Given the description of an element on the screen output the (x, y) to click on. 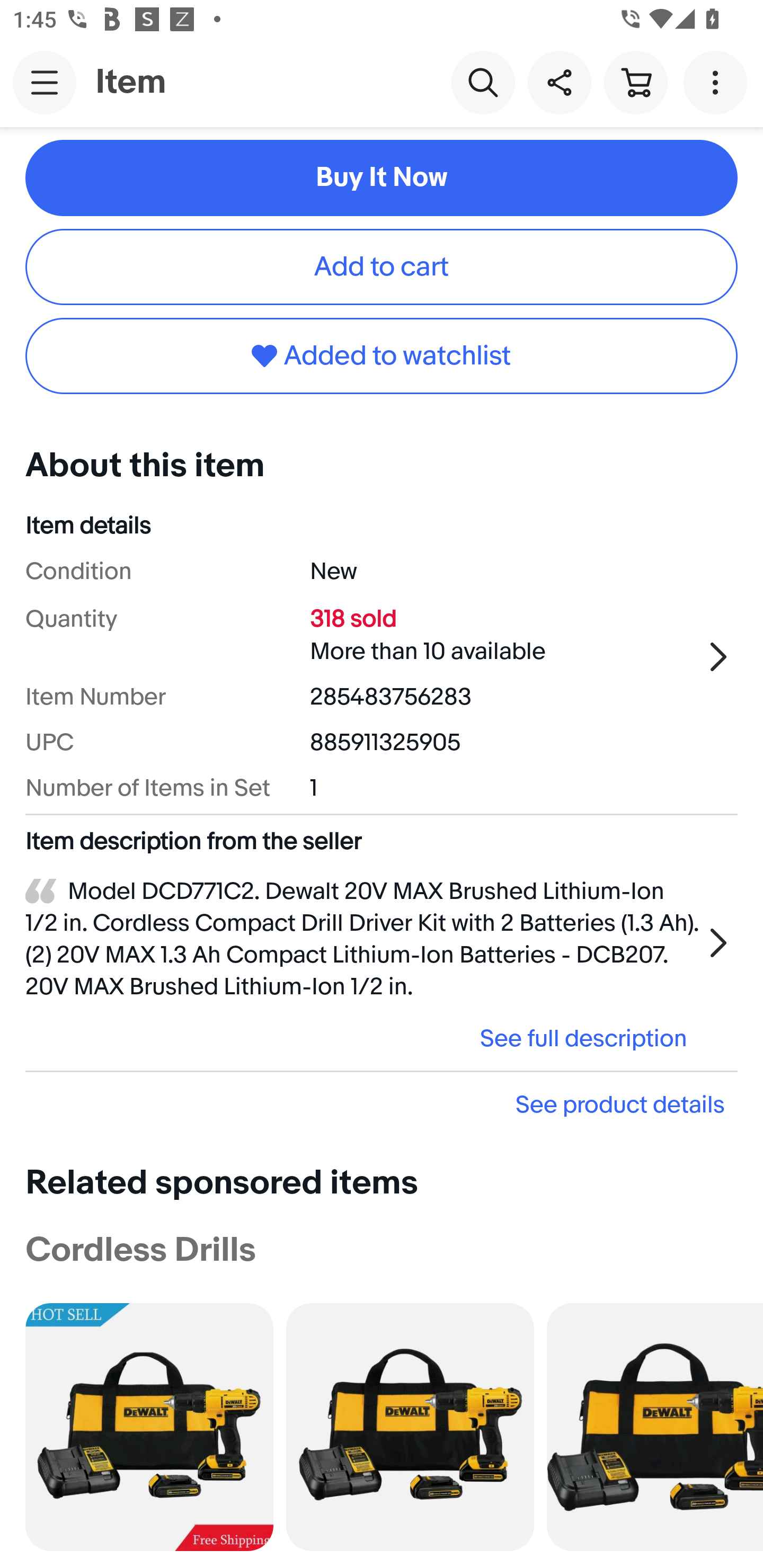
Main navigation, open (44, 82)
Search (482, 81)
Share this item (559, 81)
Cart button shopping cart (635, 81)
More options (718, 81)
Buy It Now (381, 177)
Add to cart (381, 266)
Added to watchlist (381, 355)
See full description (362, 1038)
See product details (381, 1104)
